Given the description of an element on the screen output the (x, y) to click on. 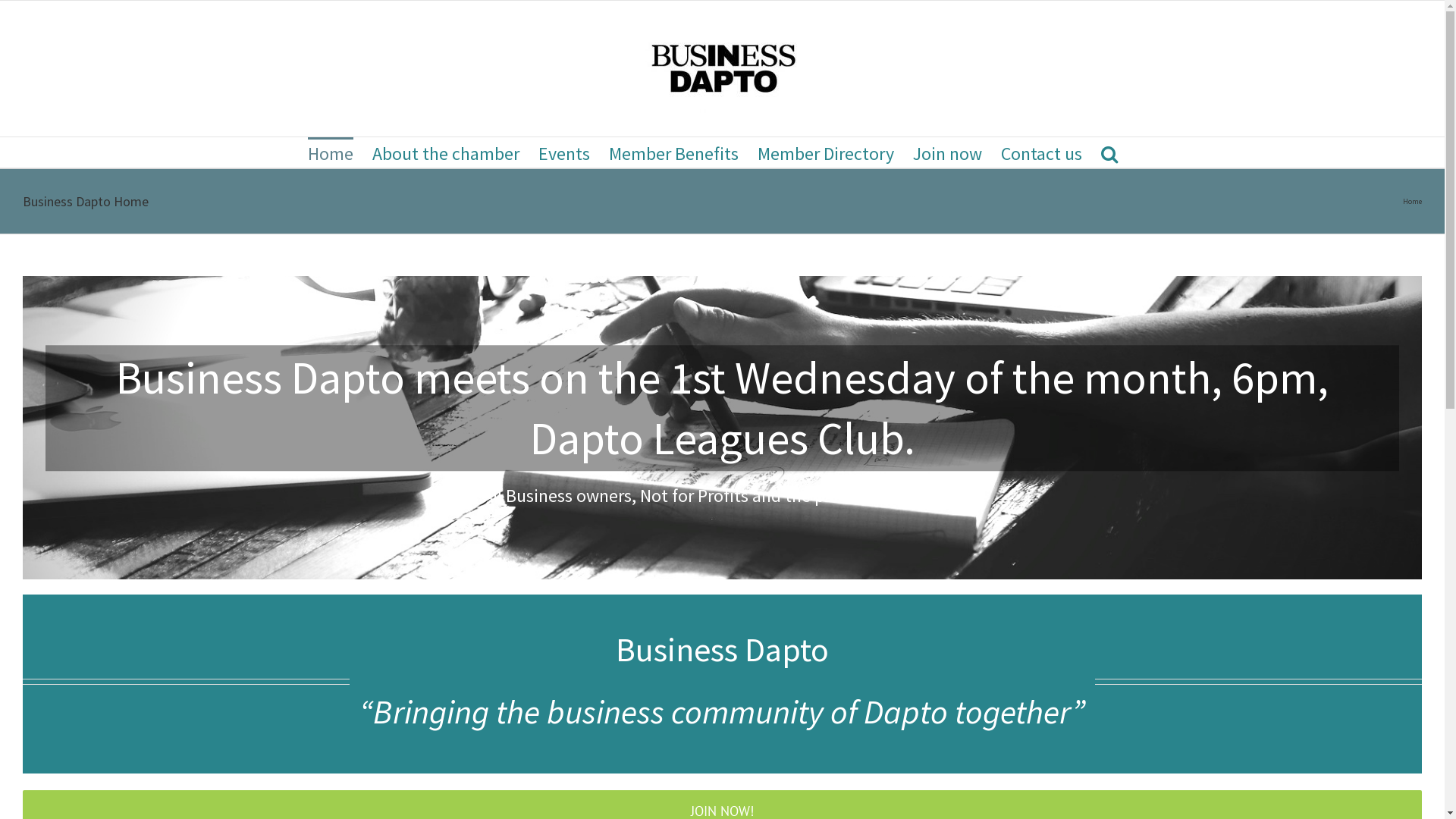
About the chamber Element type: text (445, 152)
Join now Element type: text (947, 152)
Member Directory Element type: text (825, 152)
Search Element type: hover (1109, 152)
Events Element type: text (563, 152)
Home Element type: text (1411, 201)
Member Benefits Element type: text (673, 152)
Home Element type: text (330, 152)
Contact us Element type: text (1041, 152)
